Given the description of an element on the screen output the (x, y) to click on. 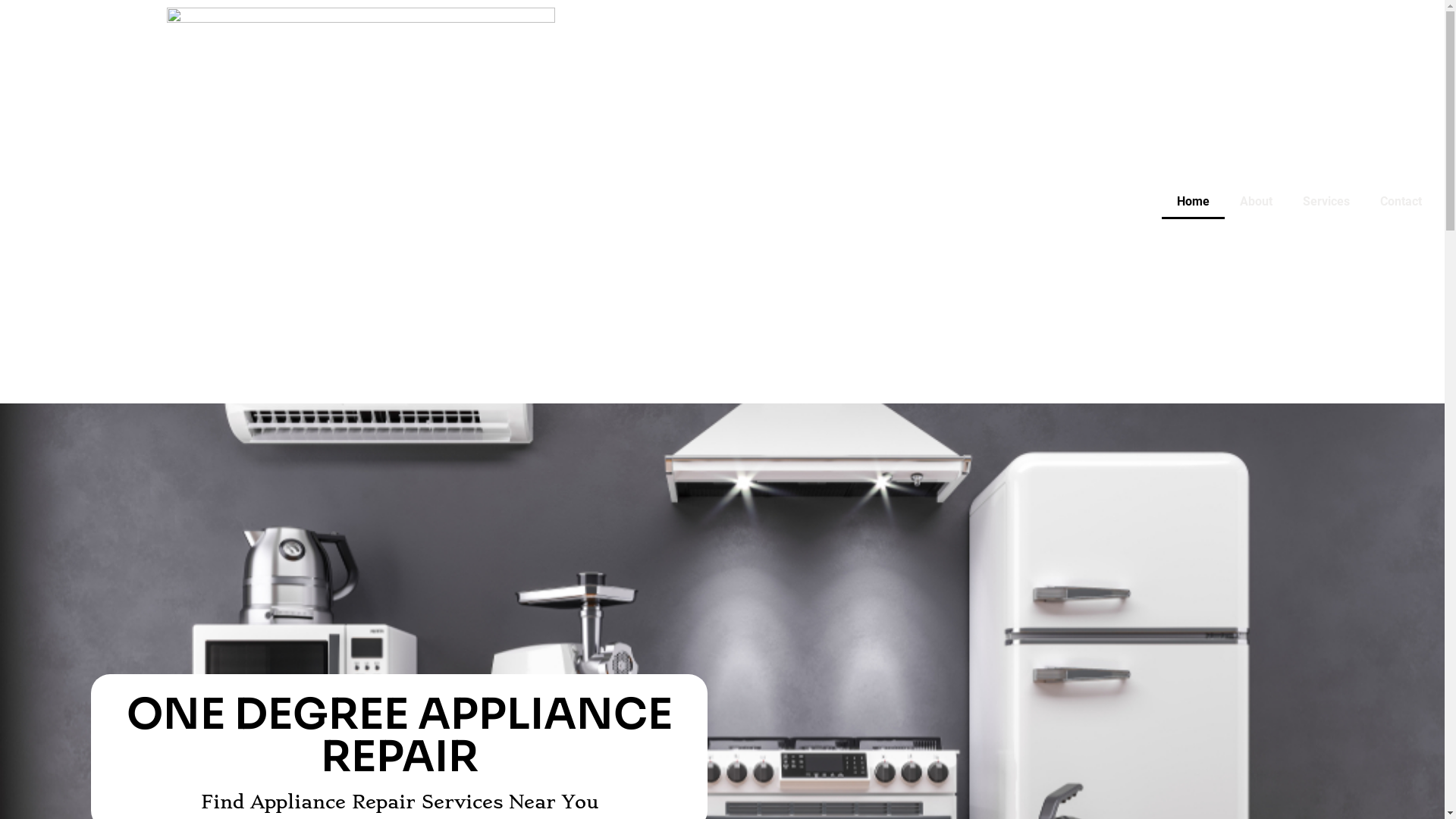
Contact Element type: text (1401, 201)
About Element type: text (1255, 201)
Services Element type: text (1326, 201)
Home Element type: text (1192, 201)
